Given the description of an element on the screen output the (x, y) to click on. 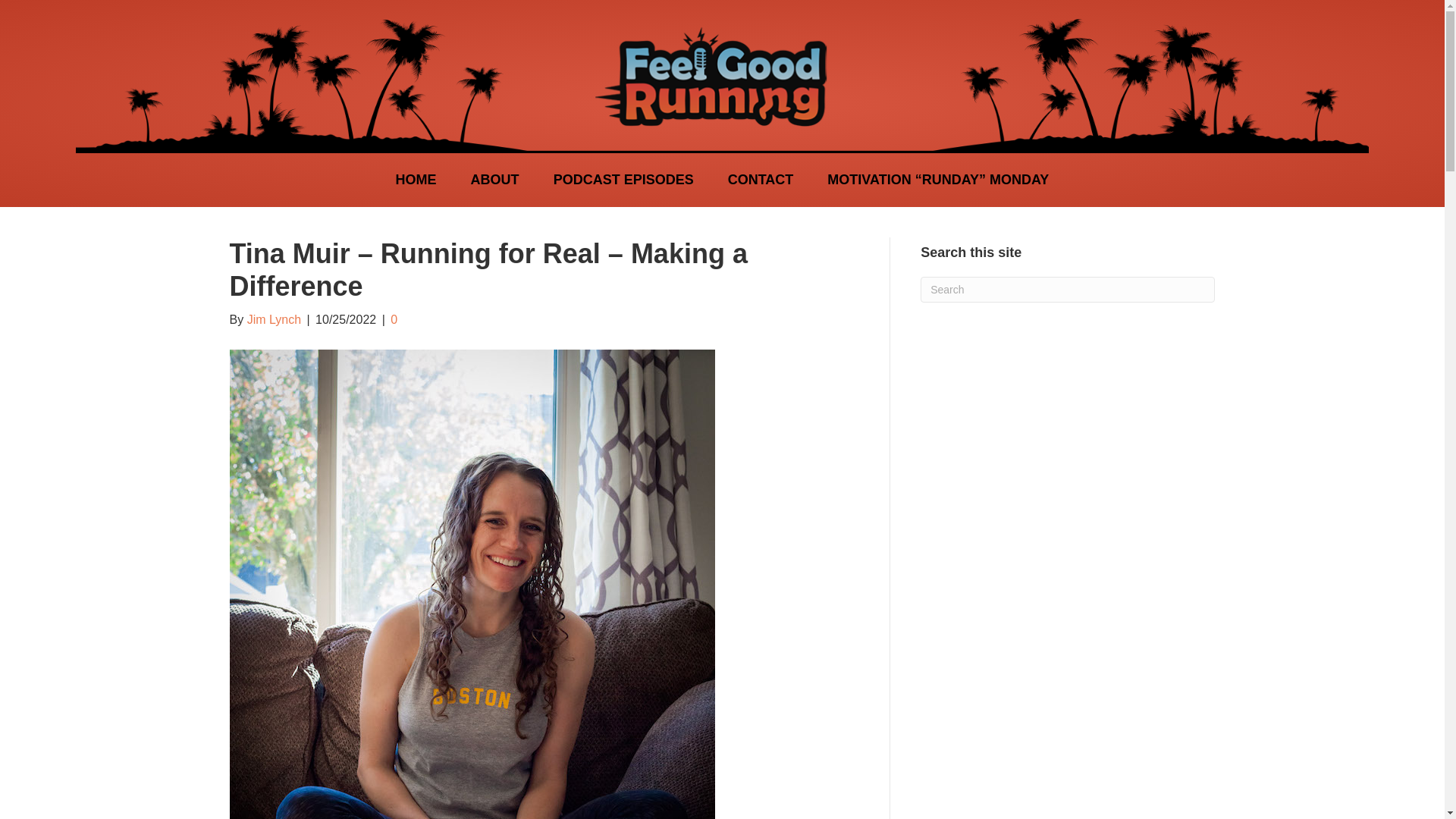
CONTACT (761, 179)
Jim Lynch (274, 318)
PODCAST EPISODES (623, 179)
ABOUT (494, 179)
HOME (415, 179)
Type and press Enter to search. (1067, 289)
